Given the description of an element on the screen output the (x, y) to click on. 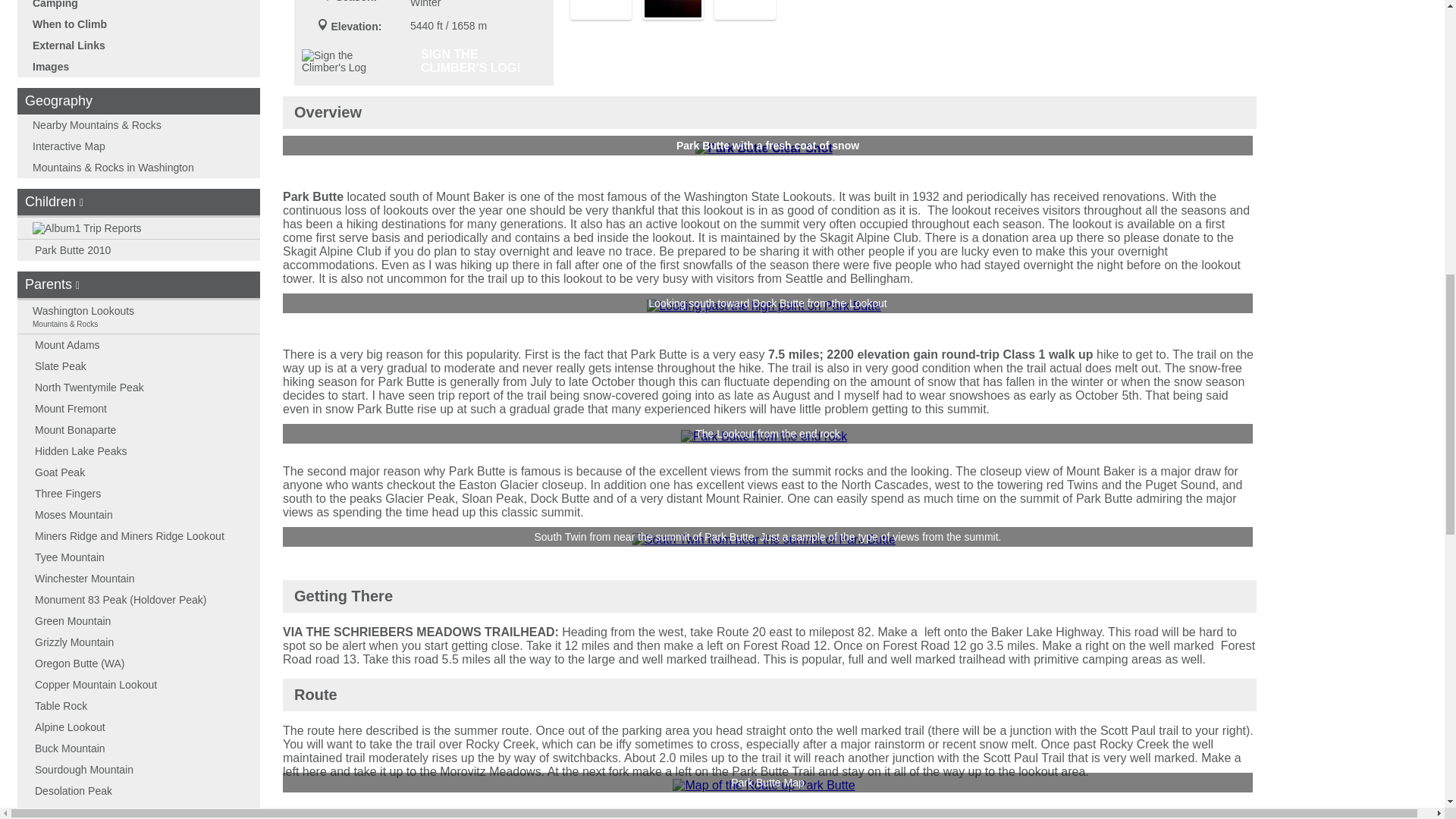
Sign the Climber's Log (348, 61)
Additional Information (323, 24)
